Given the description of an element on the screen output the (x, y) to click on. 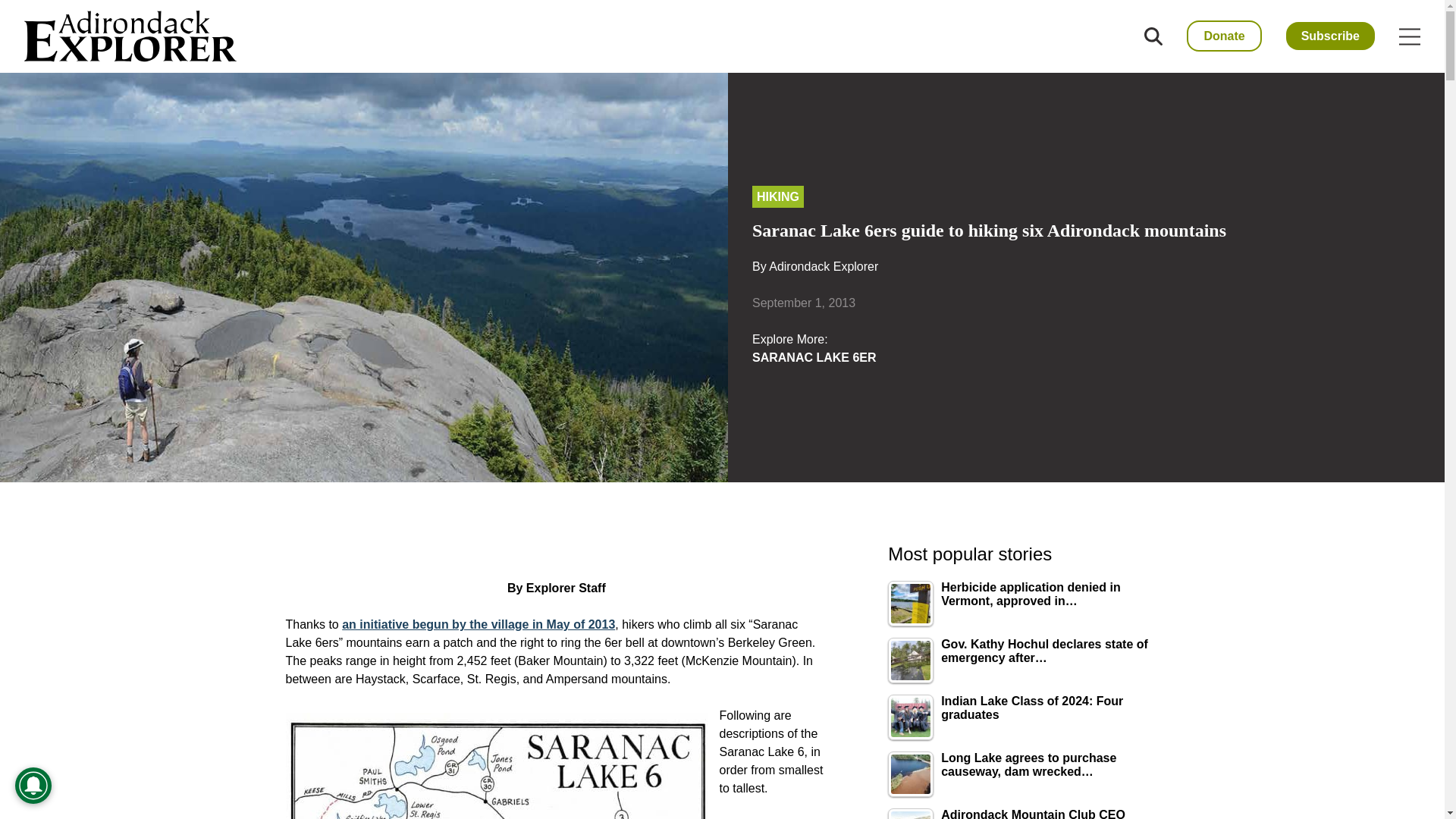
an initiative begun by the village in May of 2013 (478, 624)
Subscribe (1329, 35)
Adirondack Explorer (822, 266)
Indian Lake Class of 2024: Four graduates (910, 717)
Donate (1223, 35)
SARANAC LAKE 6ER (814, 357)
HIKING (777, 196)
